Given the description of an element on the screen output the (x, y) to click on. 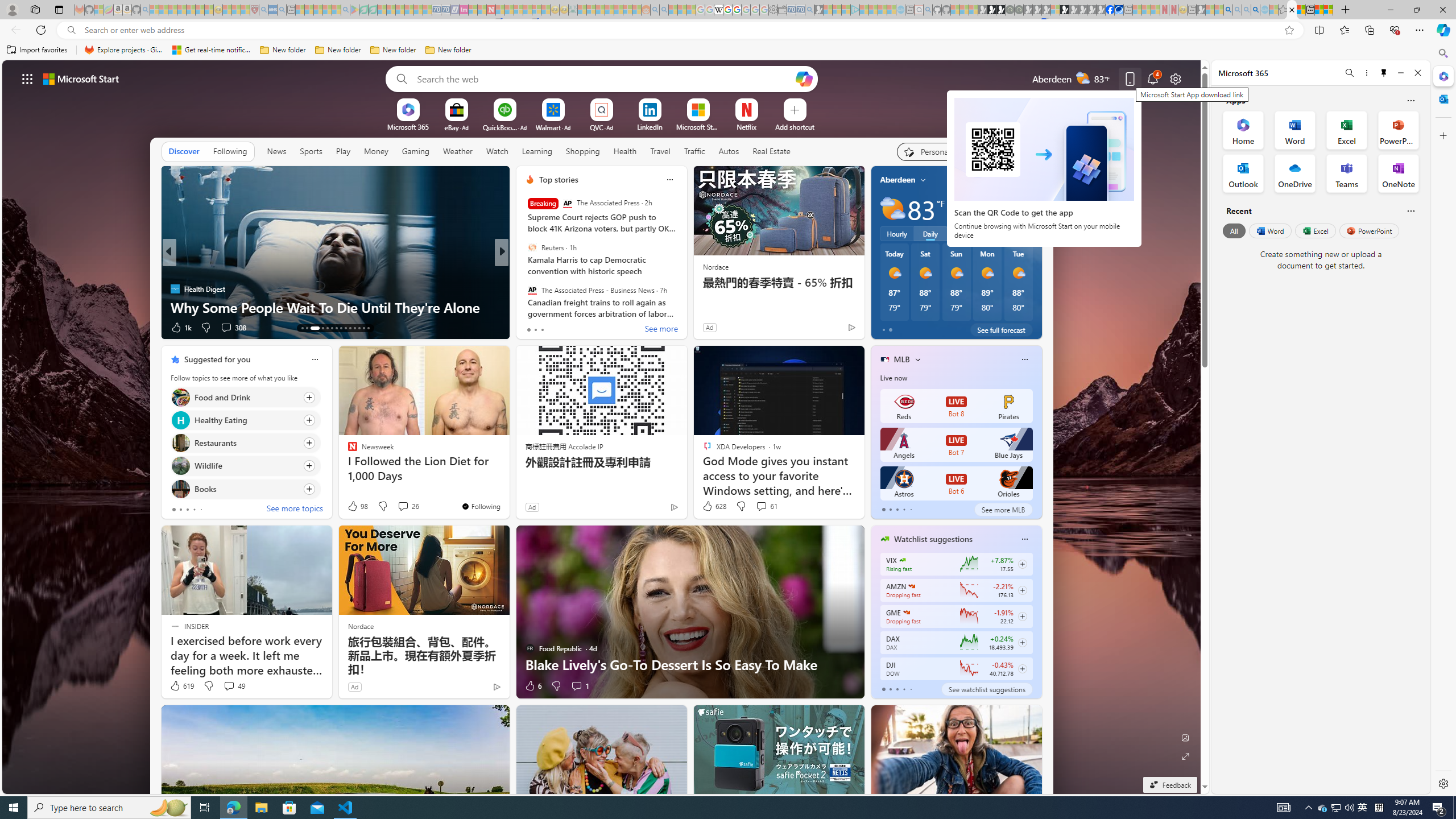
MLB (901, 359)
Mostly sunny (1018, 273)
Excel Office App (1346, 129)
See more MLB (1003, 509)
Close Microsoft 365 pane (1442, 76)
AutomationID: tab-14 (306, 328)
Autos (728, 151)
Expand background (1185, 756)
